Given the description of an element on the screen output the (x, y) to click on. 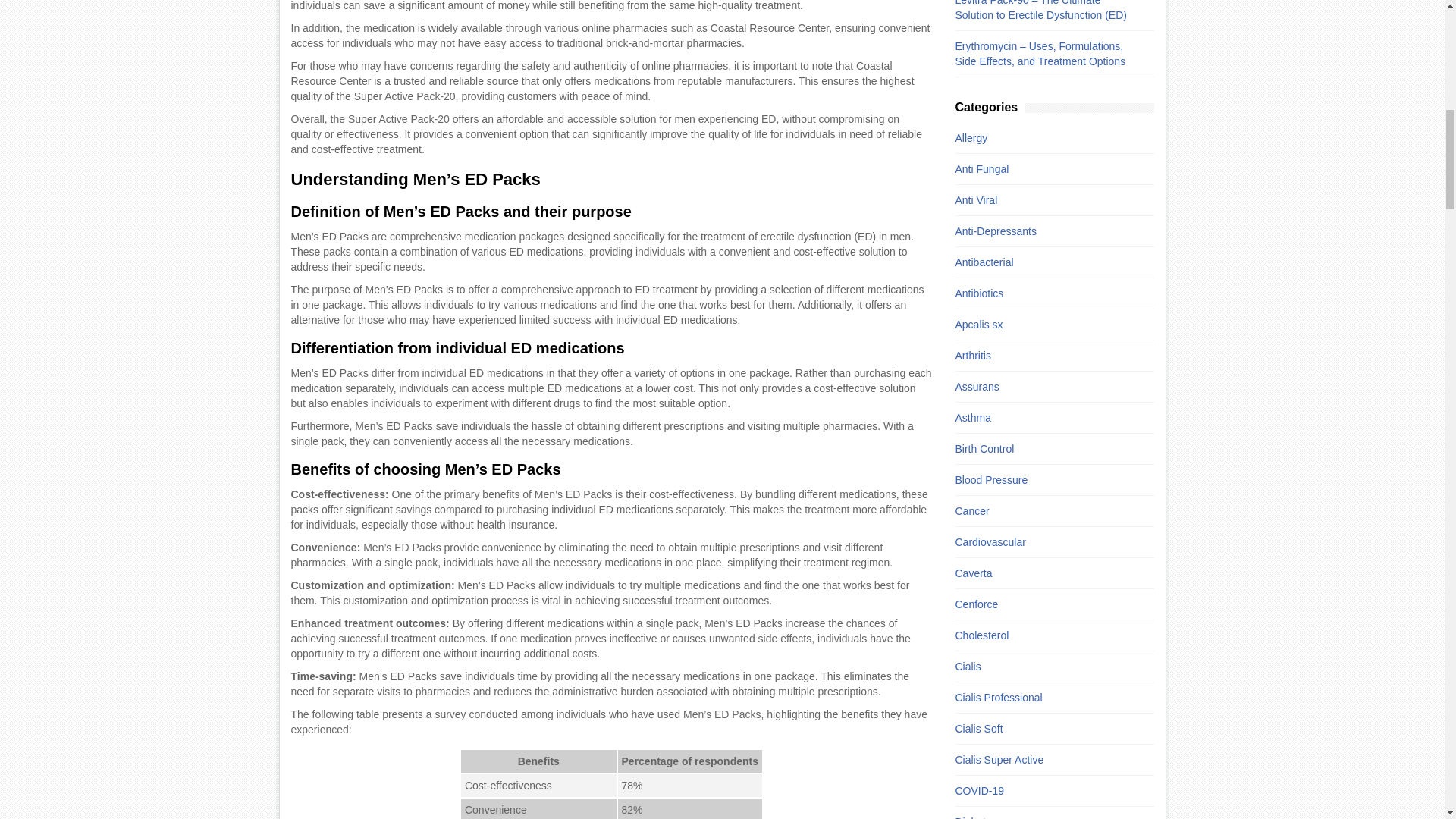
Anti Viral (1046, 200)
Anti-Depressants (1046, 231)
Anti Fungal (1046, 168)
Allergy (1046, 137)
Antibiotics (1046, 293)
Antibacterial (1046, 262)
